Given the description of an element on the screen output the (x, y) to click on. 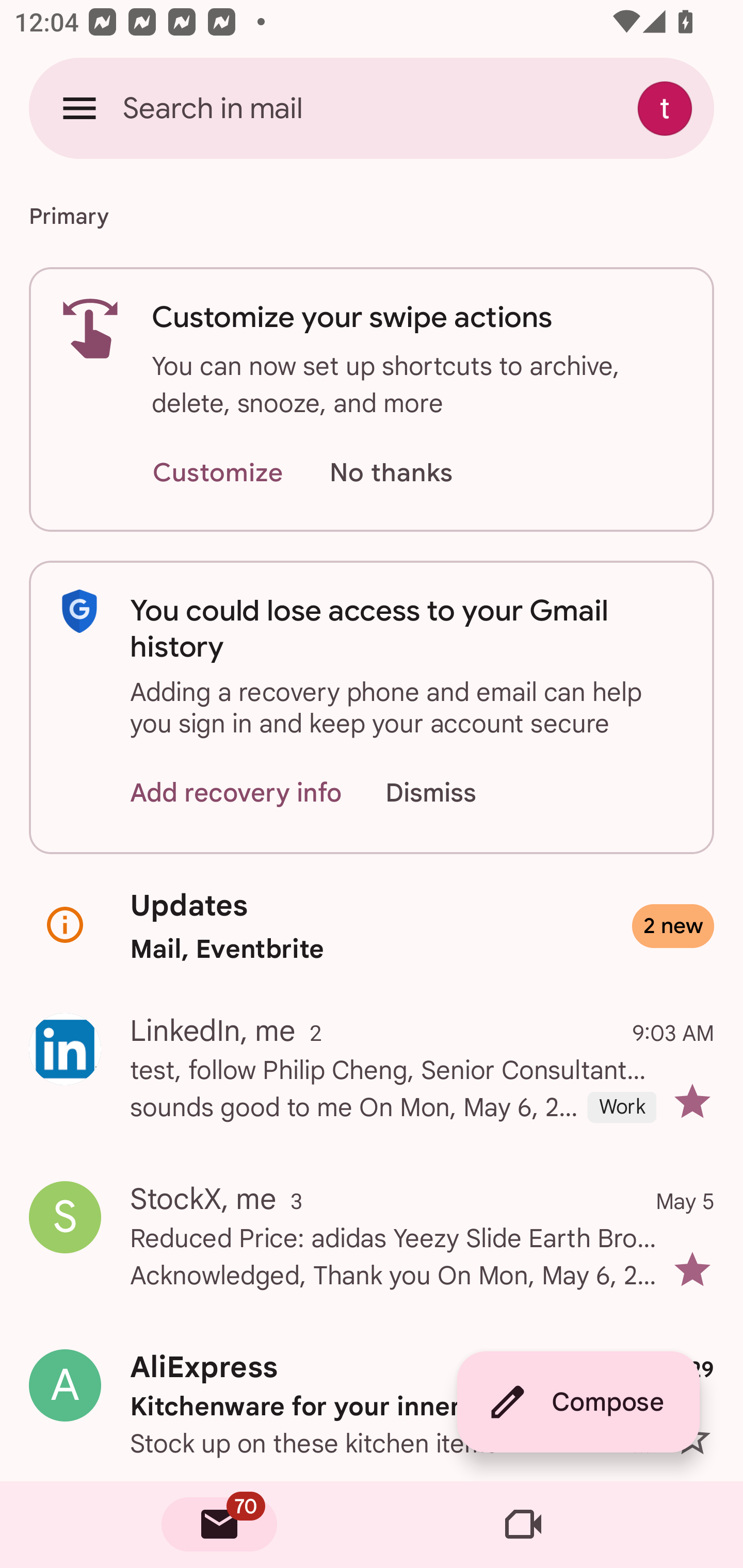
Open navigation drawer (79, 108)
Customize (217, 473)
No thanks (390, 473)
Add recovery info (235, 792)
Dismiss (449, 792)
Updates Mail, Eventbrite 2 new (371, 926)
Compose (577, 1401)
Meet (523, 1524)
